Given the description of an element on the screen output the (x, y) to click on. 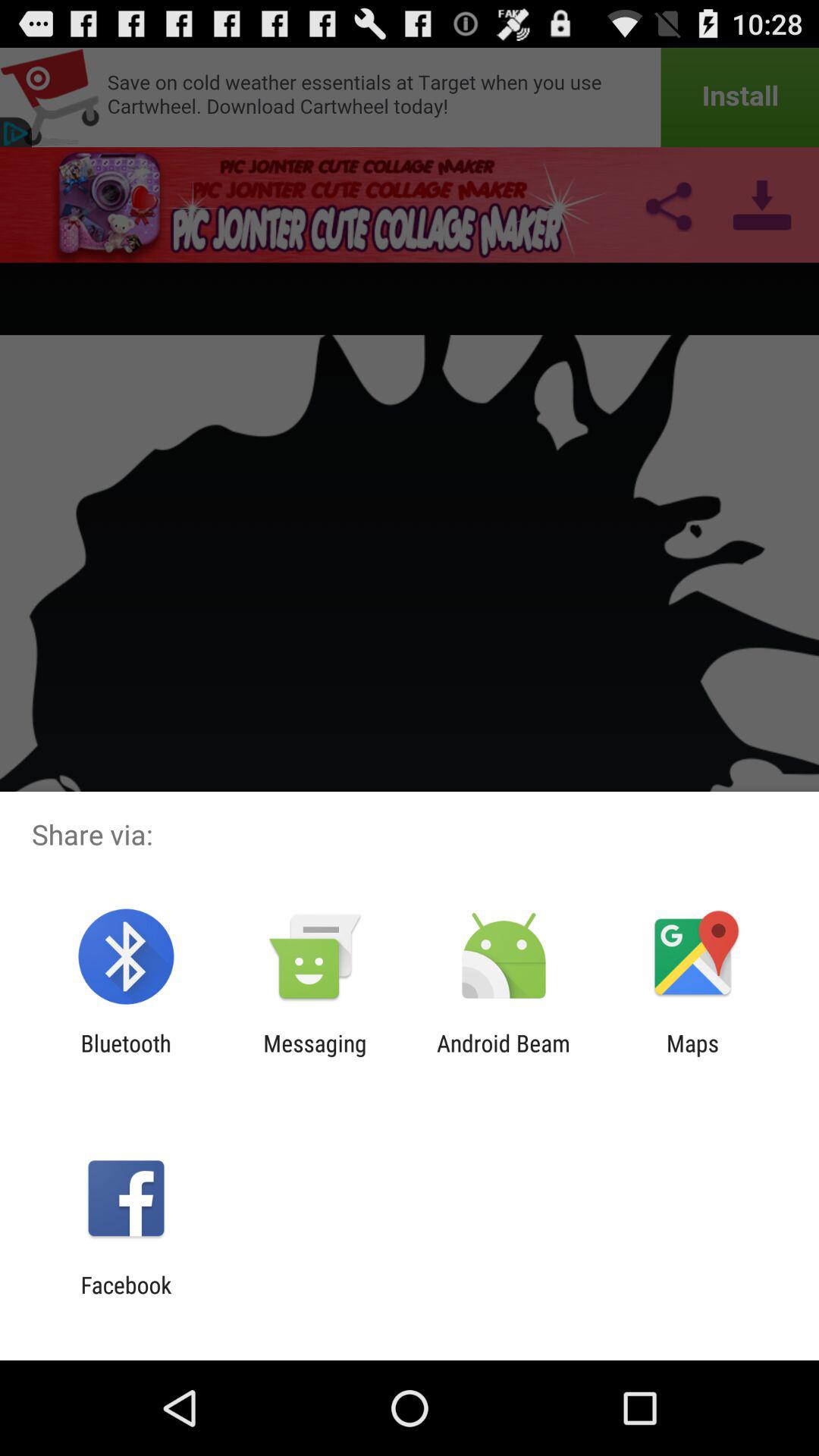
launch the messaging icon (314, 1056)
